Given the description of an element on the screen output the (x, y) to click on. 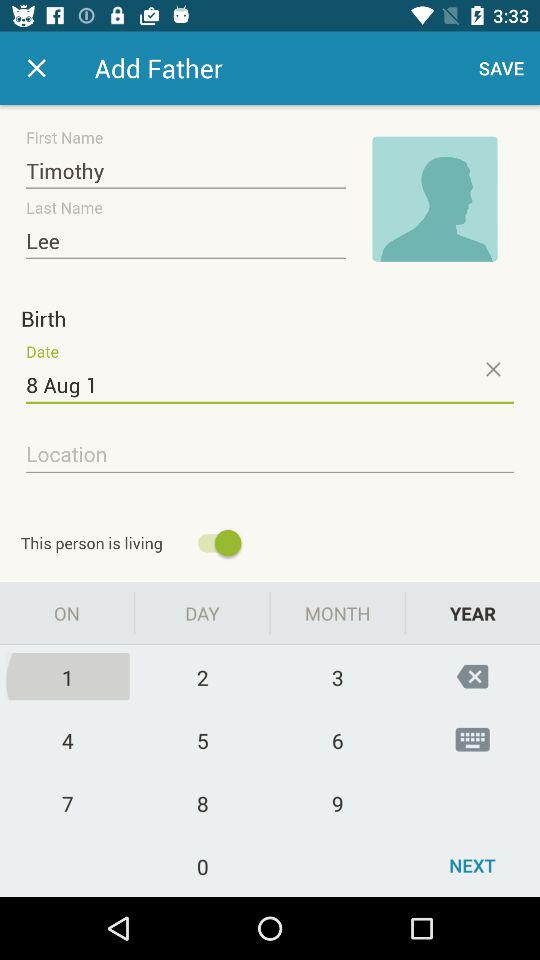
closing icon (492, 369)
